Given the description of an element on the screen output the (x, y) to click on. 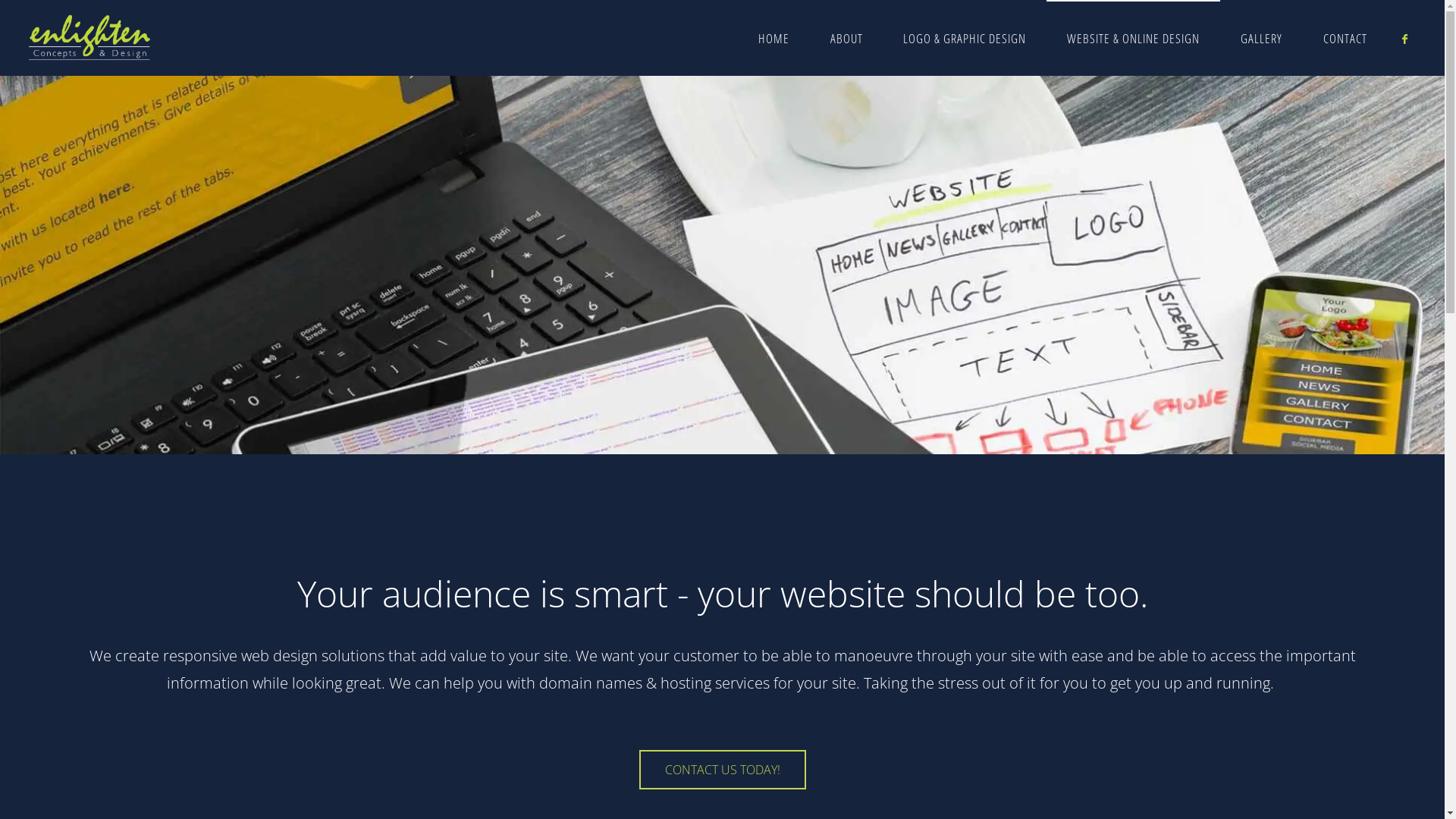
CONTACT Element type: text (1344, 37)
LOGO & GRAPHIC DESIGN Element type: text (965, 37)
WEBSITE & ONLINE DESIGN Element type: text (1133, 37)
GALLERY Element type: text (1261, 37)
Facebook Element type: hover (1404, 38)
ABOUT Element type: text (846, 37)
CONTACT US TODAY! Element type: text (721, 769)
Enlighten Concepts & Design Element type: hover (89, 37)
HOME Element type: text (773, 37)
